Given the description of an element on the screen output the (x, y) to click on. 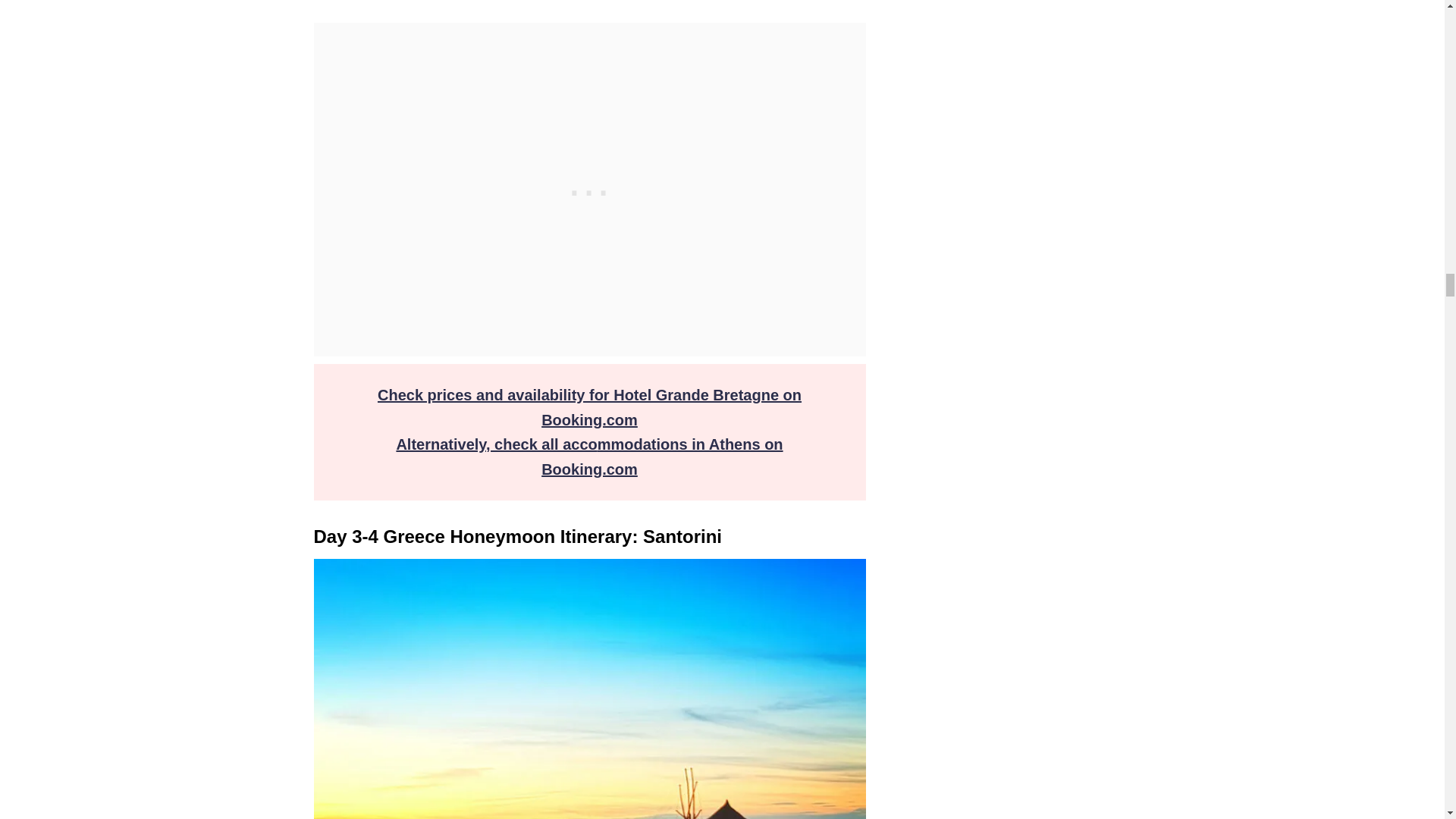
Alternatively, check all acco (496, 443)
mmodations in Athens on Booking.com (662, 456)
